Given the description of an element on the screen output the (x, y) to click on. 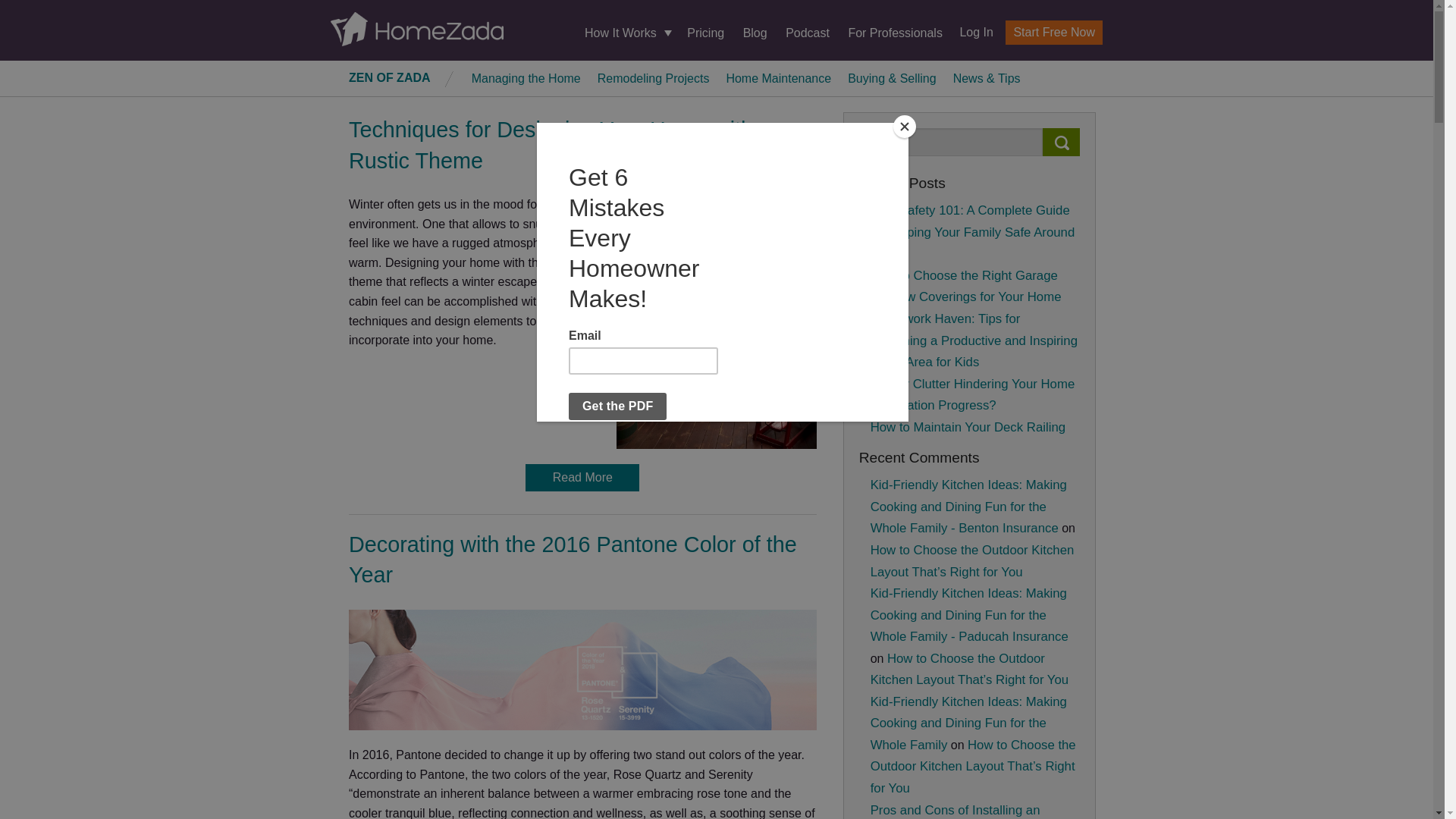
ZEN OF ZADA (389, 77)
Techniques for Designing Your Home with a Rustic Theme (560, 144)
Blog (754, 32)
Log In (969, 31)
Pricing (705, 32)
Read More (582, 477)
Start Free Now (1054, 32)
Remodeling Projects (653, 77)
Managing the Home (525, 77)
Home Maintenance (778, 77)
For Professionals (894, 32)
How It Works (626, 33)
Decorating with the 2016 Pantone Color of the Year (572, 559)
Podcast (807, 32)
